Given the description of an element on the screen output the (x, y) to click on. 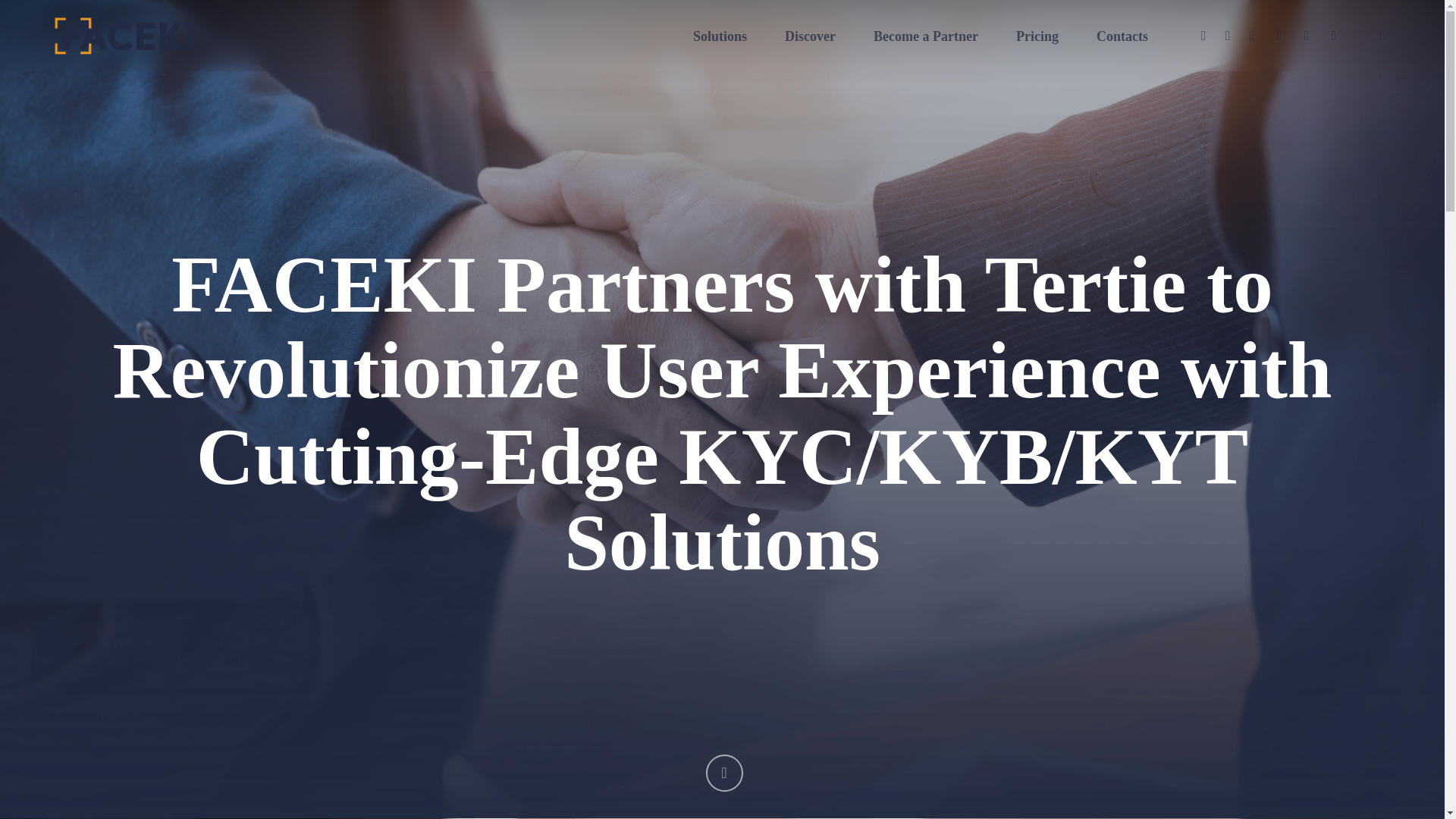
twitter (1203, 35)
Pricing (1037, 36)
Become a Partner (925, 36)
facebook (1228, 35)
Solutions (719, 36)
Contacts (1122, 36)
Discover (809, 36)
linkedin (1252, 35)
